Given the description of an element on the screen output the (x, y) to click on. 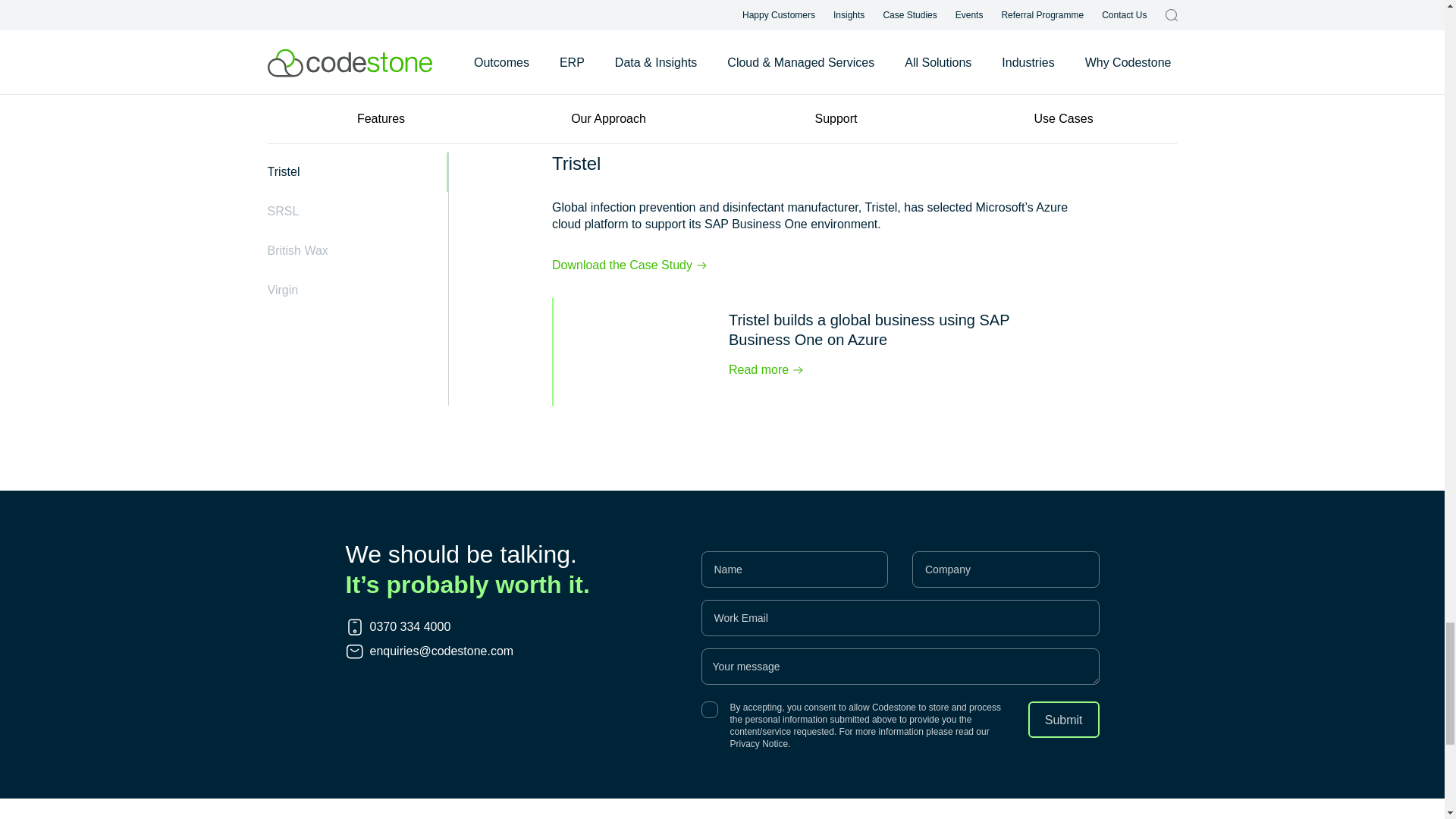
Submit (1063, 719)
